Given the description of an element on the screen output the (x, y) to click on. 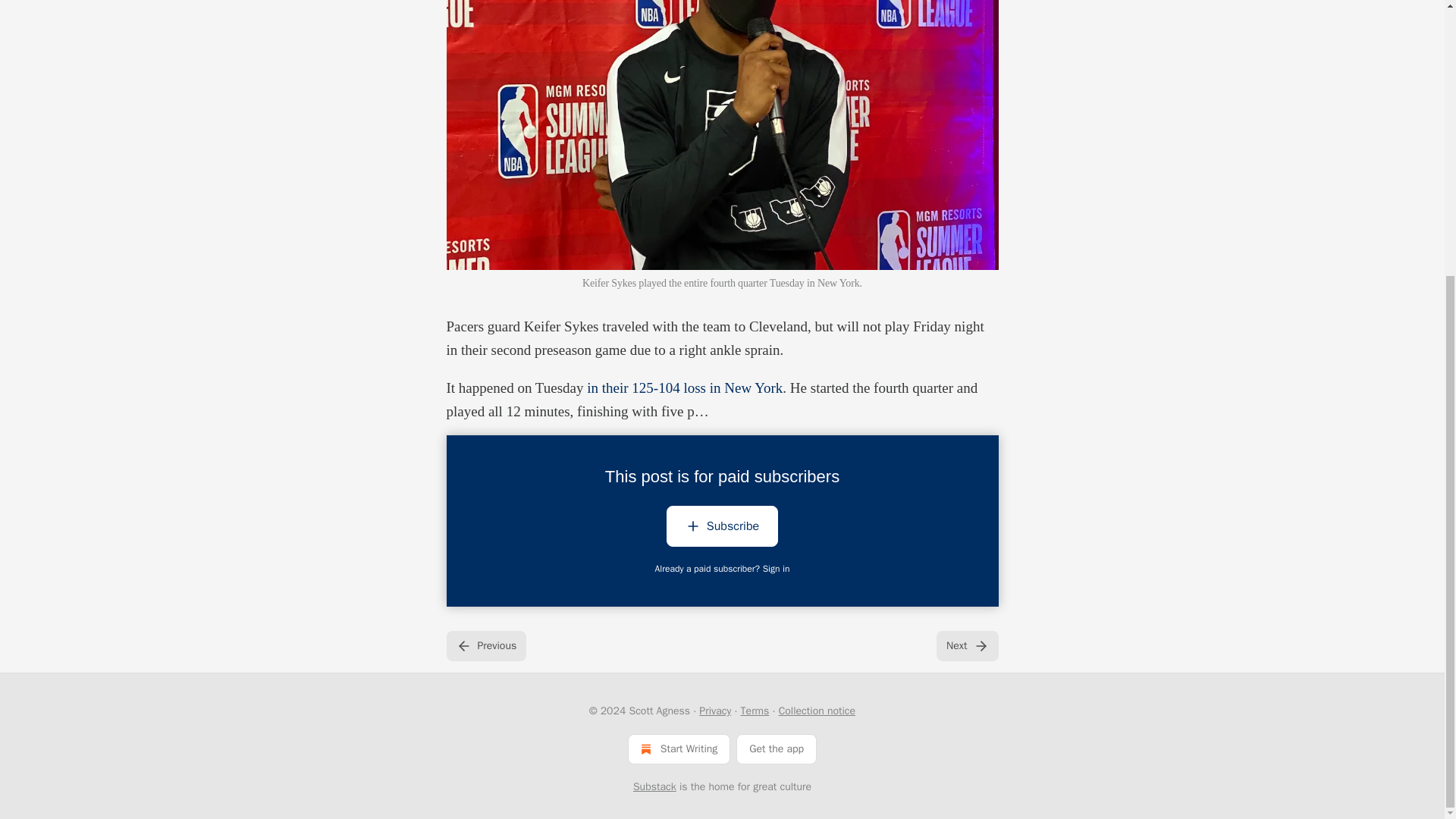
Collection notice (817, 710)
Subscribe (721, 526)
Previous (485, 645)
in their 125-104 loss in New York (684, 387)
Substack (655, 786)
Terms (755, 710)
Subscribe (721, 529)
Get the app (776, 748)
Already a paid subscriber? Sign in (722, 568)
Start Writing (678, 748)
